Given the description of an element on the screen output the (x, y) to click on. 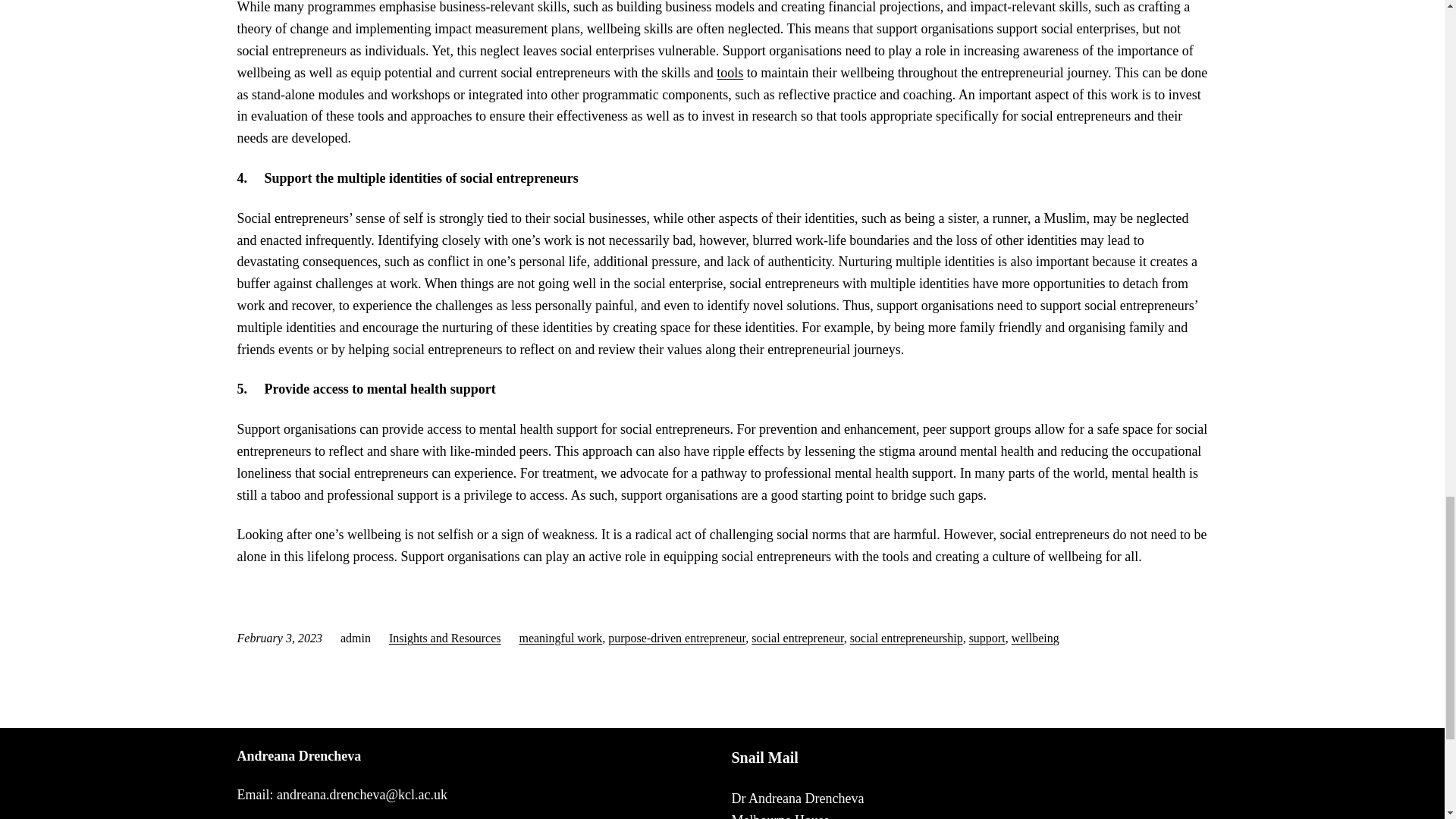
Insights and Resources (444, 637)
wellbeing (1035, 637)
support (987, 637)
social entrepreneurship (906, 637)
meaningful work (560, 637)
purpose-driven entrepreneur (676, 637)
social entrepreneur (797, 637)
tools (729, 72)
